Given the description of an element on the screen output the (x, y) to click on. 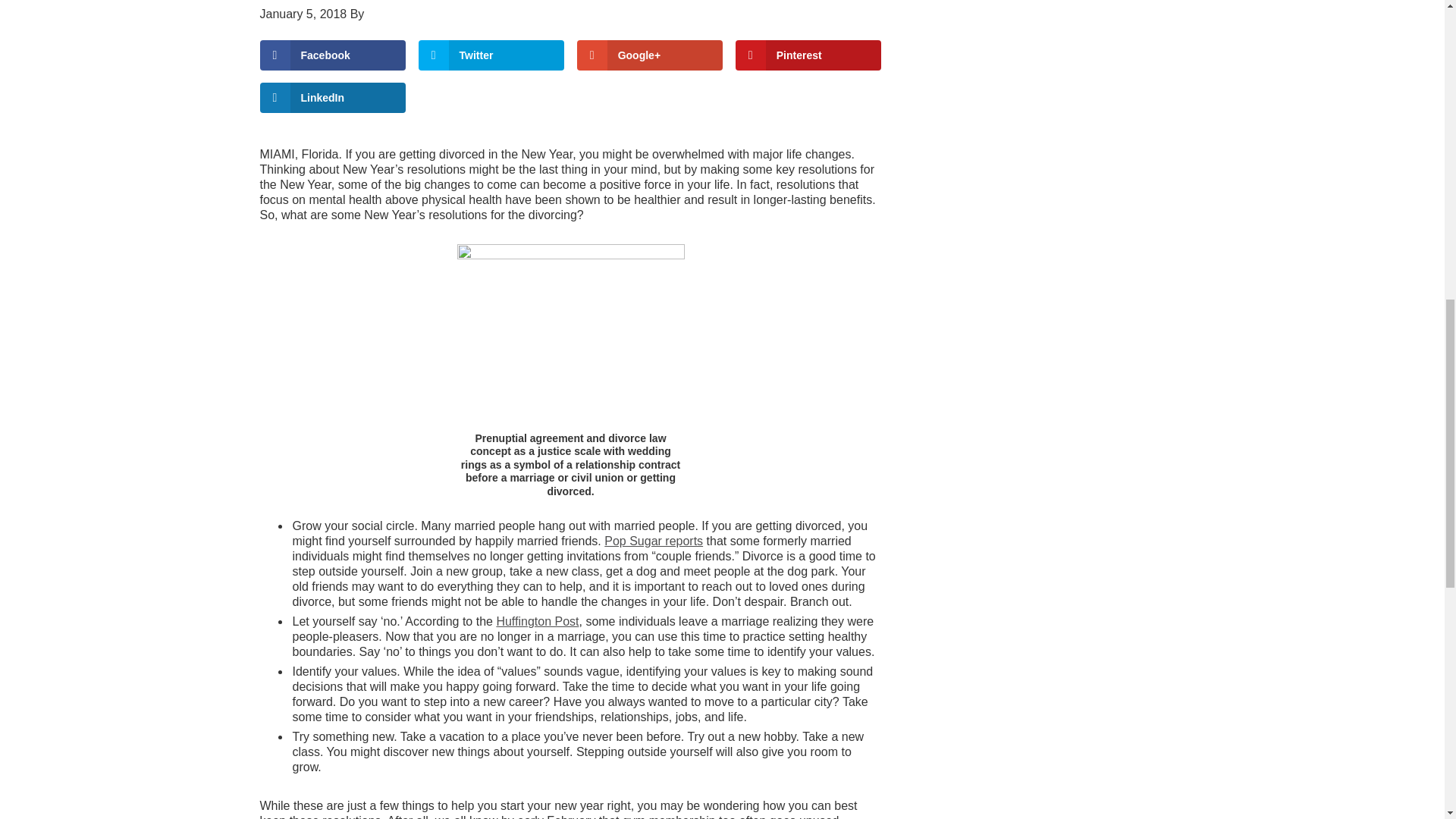
Facebook (332, 54)
Twitter (491, 54)
Huffington Post (537, 621)
Pinterest (808, 54)
LinkedIn (332, 97)
Pop Sugar reports (653, 540)
Sandy B Becher PA (421, 13)
